Given the description of an element on the screen output the (x, y) to click on. 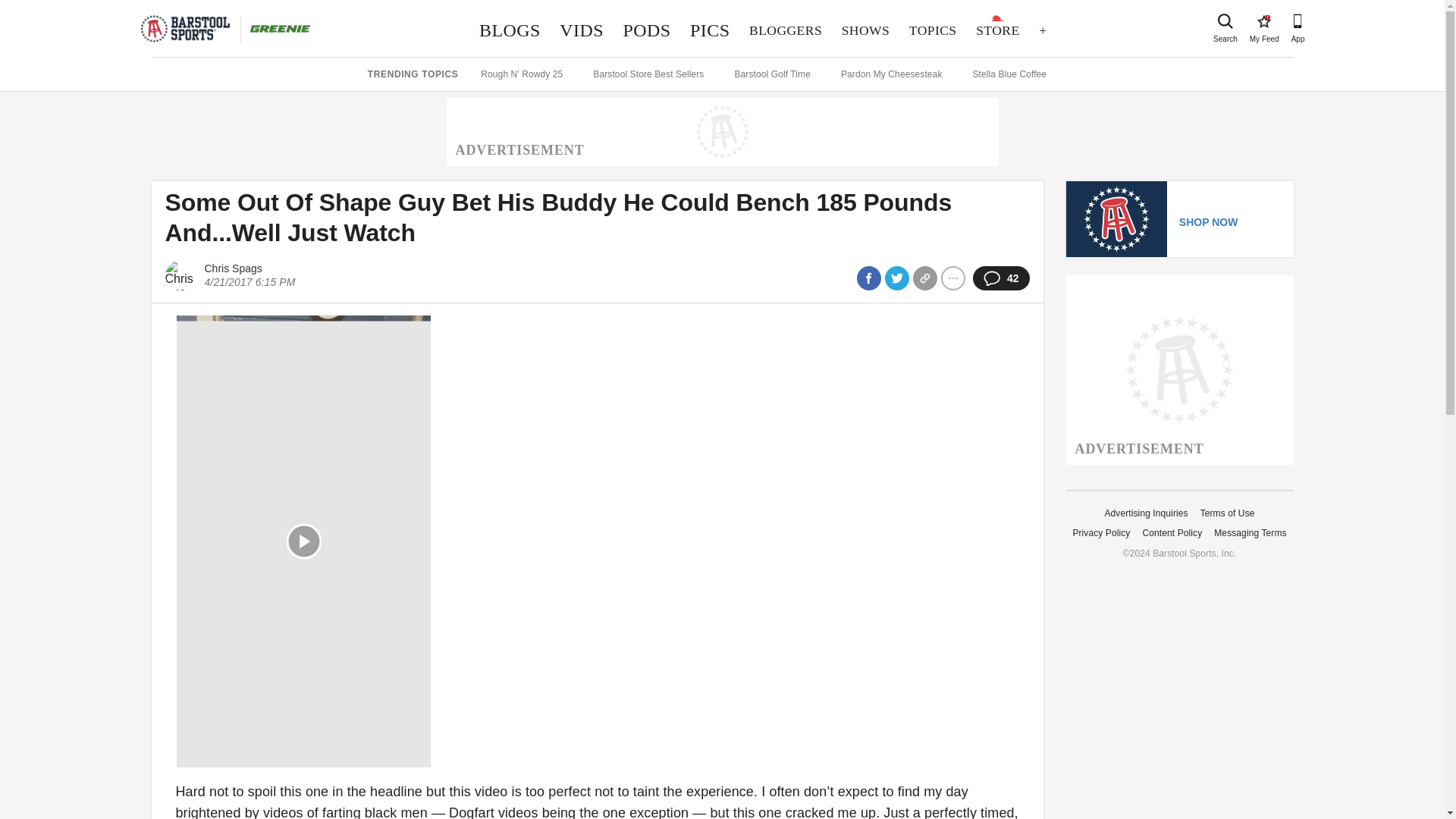
BLOGGERS (785, 30)
STORE (997, 30)
BLOGS (509, 30)
PODS (646, 30)
VIDS (581, 30)
TOPICS (932, 30)
SHOWS (865, 30)
PICS (709, 30)
Search (1263, 20)
